Given the description of an element on the screen output the (x, y) to click on. 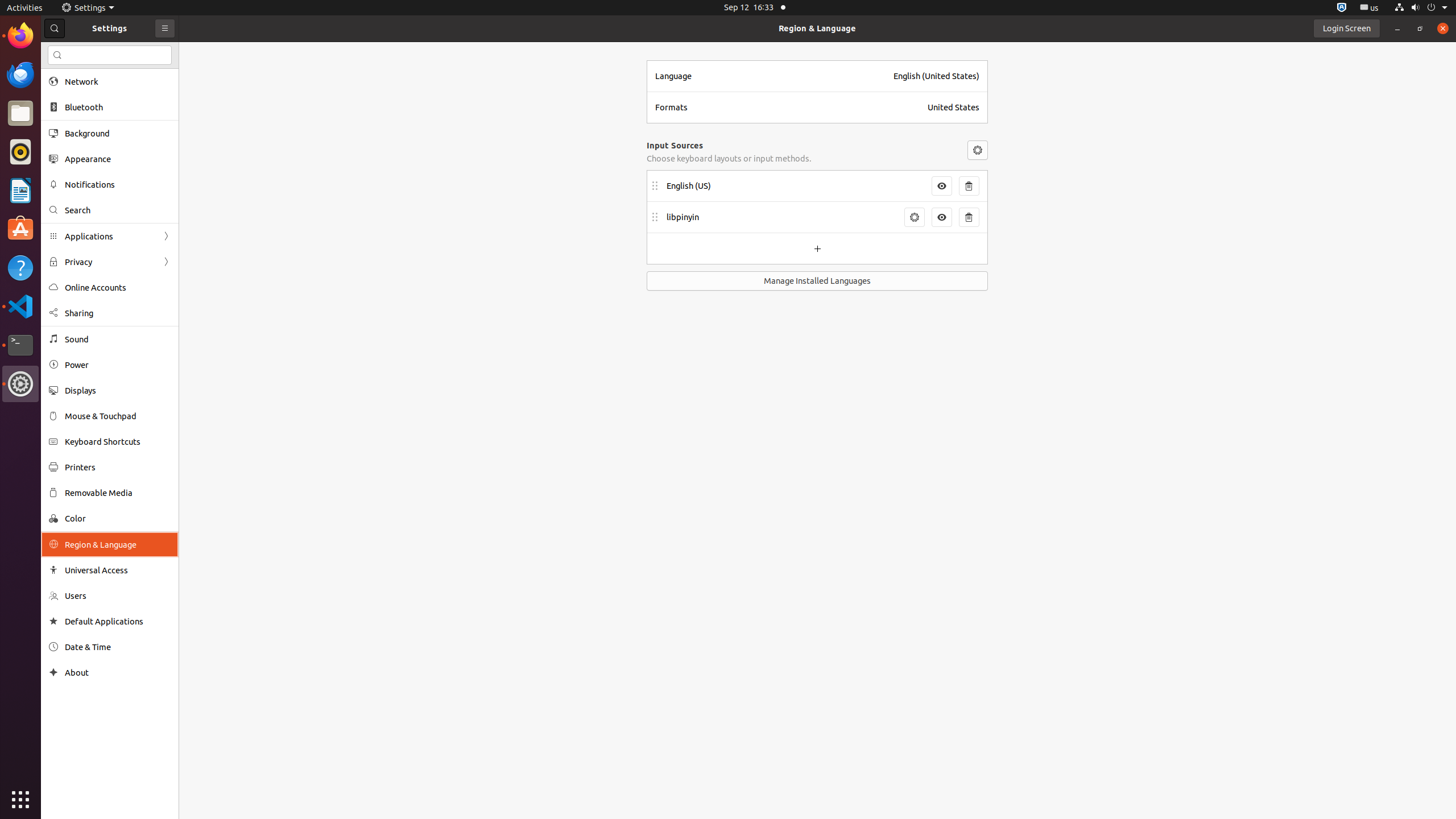
Notifications Element type: label (117, 184)
Activities Element type: label (24, 7)
Primary Menu Element type: toggle-button (164, 28)
United States Element type: label (953, 107)
